Given the description of an element on the screen output the (x, y) to click on. 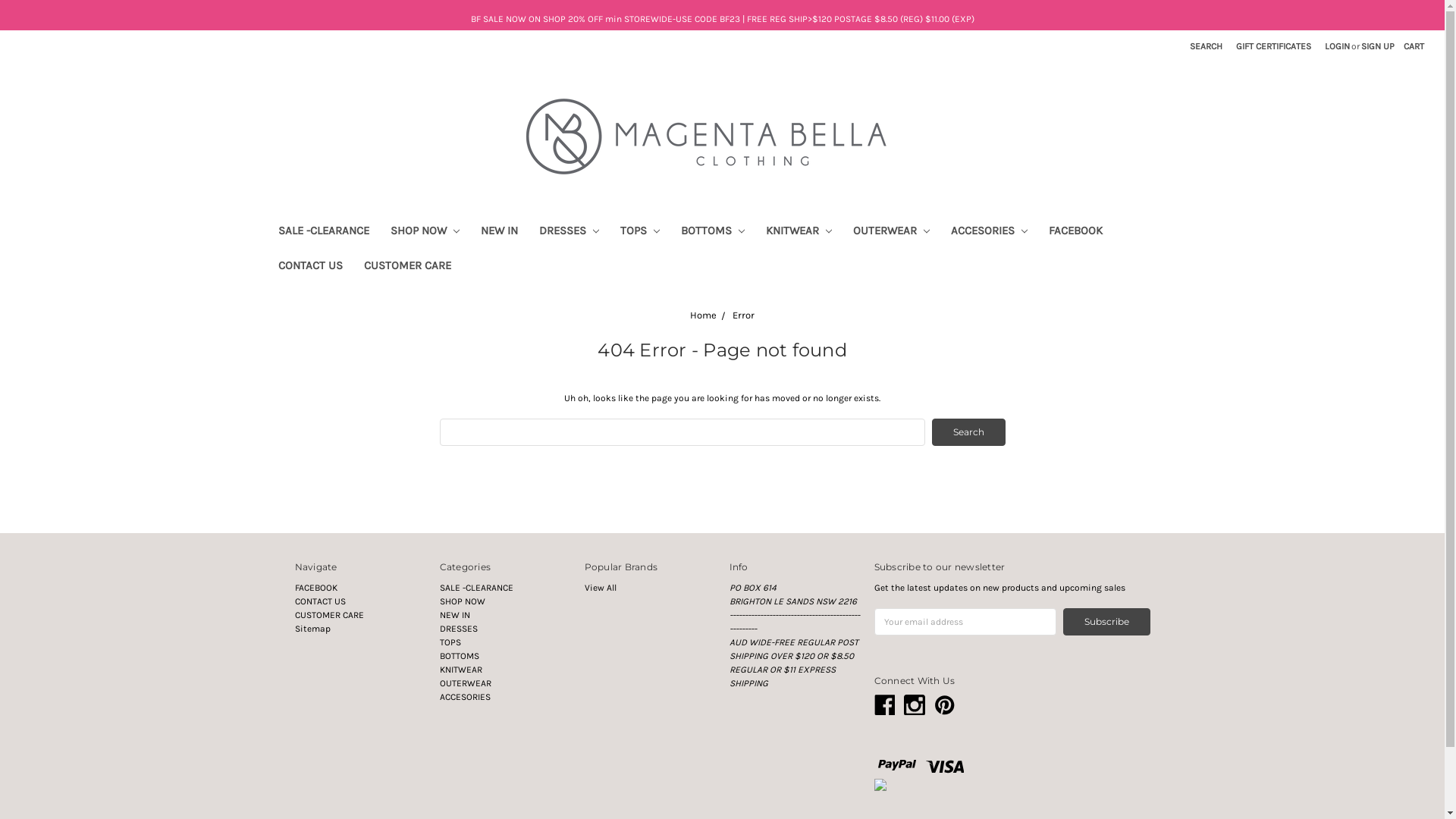
BOTTOMS Element type: text (712, 232)
BOTTOMS Element type: text (459, 655)
CUSTOMER CARE Element type: text (328, 614)
NEW IN Element type: text (454, 614)
LOGIN Element type: text (1336, 46)
SEARCH Element type: text (1206, 46)
SALE -CLEARANCE Element type: text (476, 587)
OUTERWEAR Element type: text (890, 232)
CART Element type: text (1413, 46)
Search Element type: text (967, 431)
NEW IN Element type: text (499, 232)
DRESSES Element type: text (567, 232)
KNITWEAR Element type: text (798, 232)
TOPS Element type: text (450, 642)
SALE -CLEARANCE Element type: text (322, 232)
Error Element type: text (743, 314)
FACEBOOK Element type: text (1074, 232)
ACCESORIES Element type: text (464, 696)
TOPS Element type: text (639, 232)
Sitemap Element type: text (311, 628)
FACEBOOK Element type: text (315, 587)
CONTACT US Element type: text (309, 267)
View All Element type: text (599, 587)
Subscribe Element type: text (1106, 621)
KNITWEAR Element type: text (460, 669)
DRESSES Element type: text (458, 628)
CONTACT US Element type: text (319, 601)
SHOP NOW Element type: text (424, 232)
CUSTOMER CARE Element type: text (407, 267)
ACCESORIES Element type: text (989, 232)
Home Element type: text (703, 314)
SIGN UP Element type: text (1377, 46)
SHOP NOW Element type: text (462, 601)
GIFT CERTIFICATES Element type: text (1273, 46)
OUTERWEAR Element type: text (465, 682)
